Given the description of an element on the screen output the (x, y) to click on. 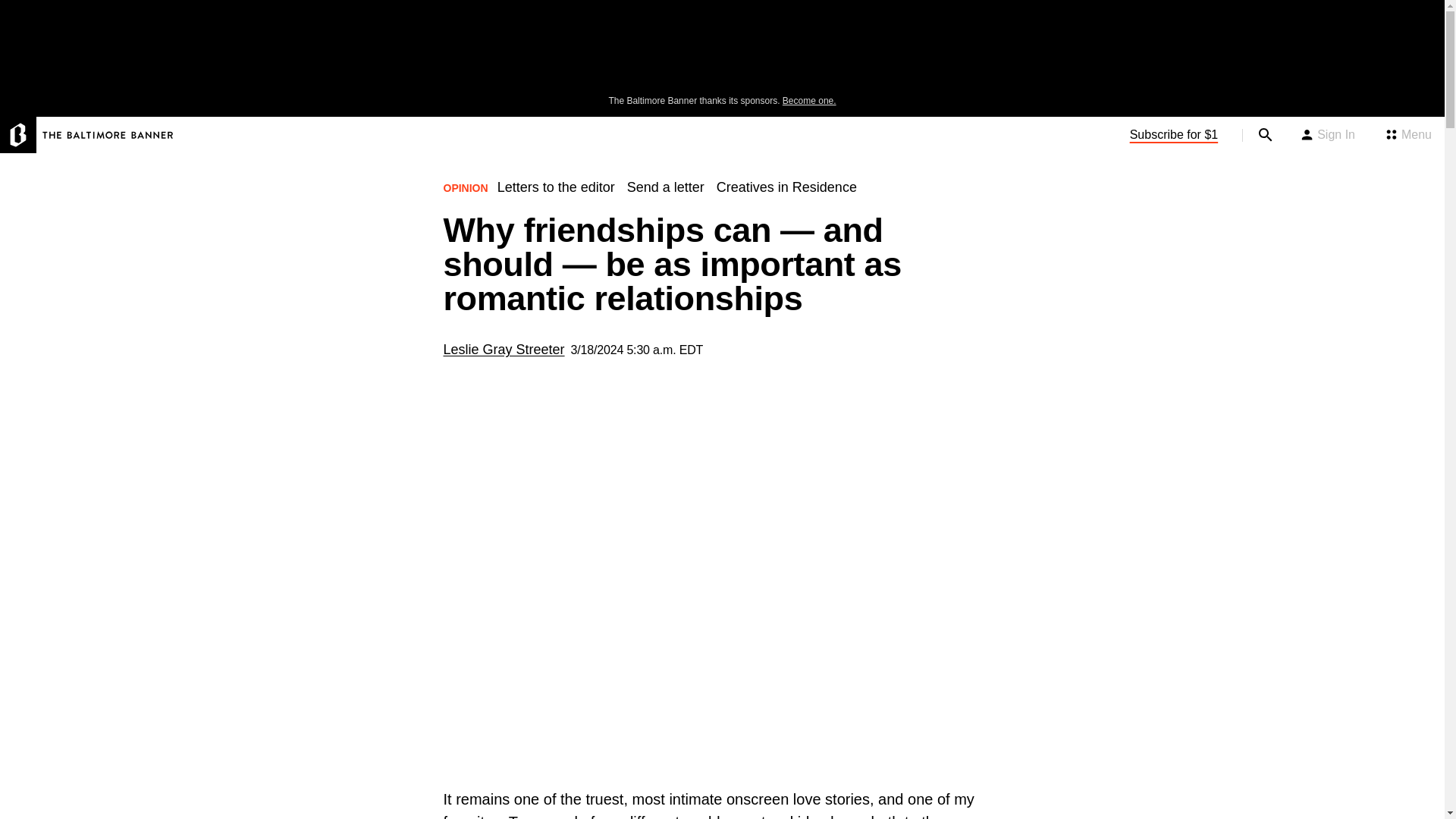
Become one. (809, 100)
Sign In (1327, 135)
